Given the description of an element on the screen output the (x, y) to click on. 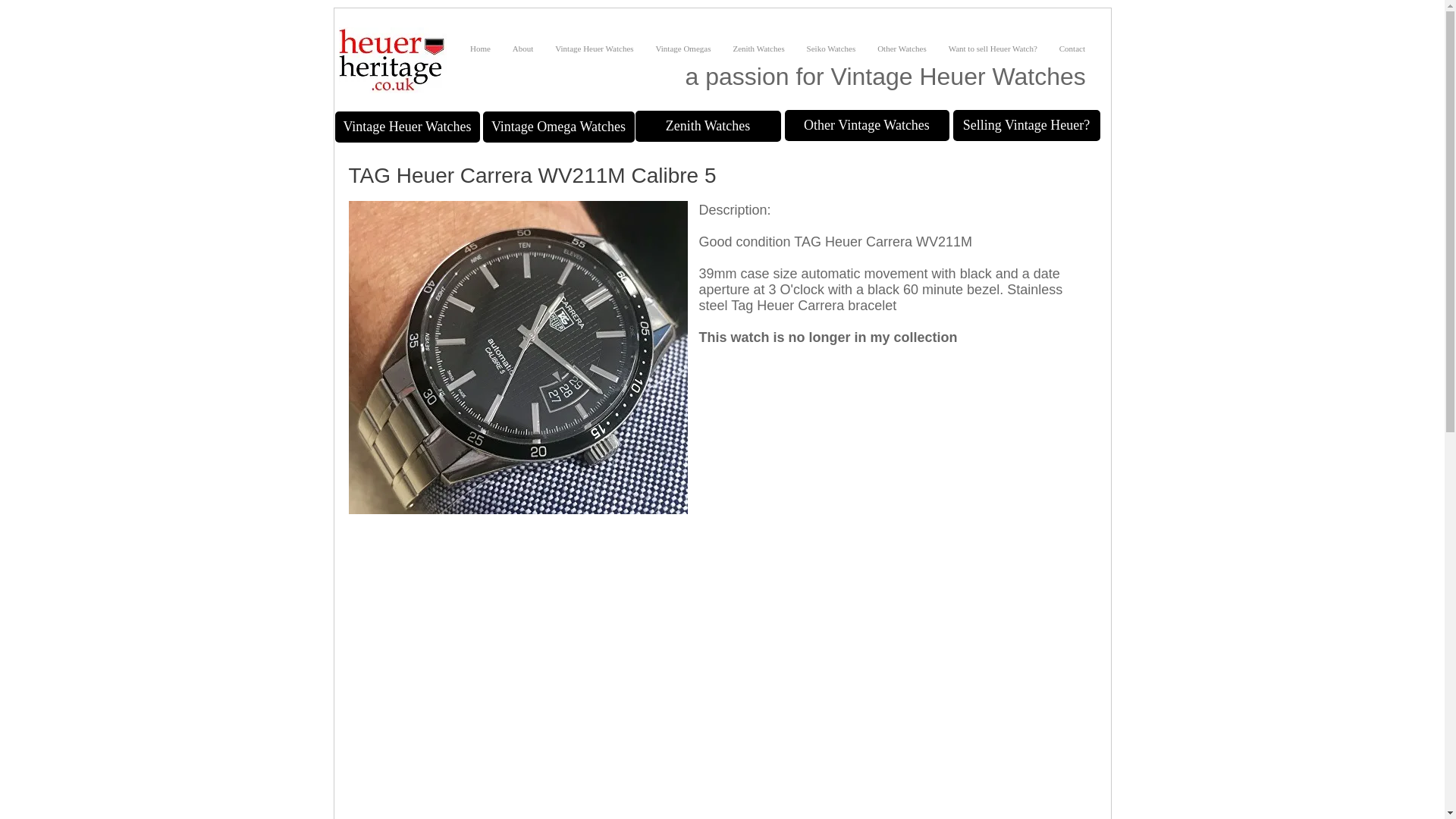
Home (481, 48)
Vintage Heuer Watches (594, 48)
About (521, 48)
Vintage Omegas (683, 48)
